Given the description of an element on the screen output the (x, y) to click on. 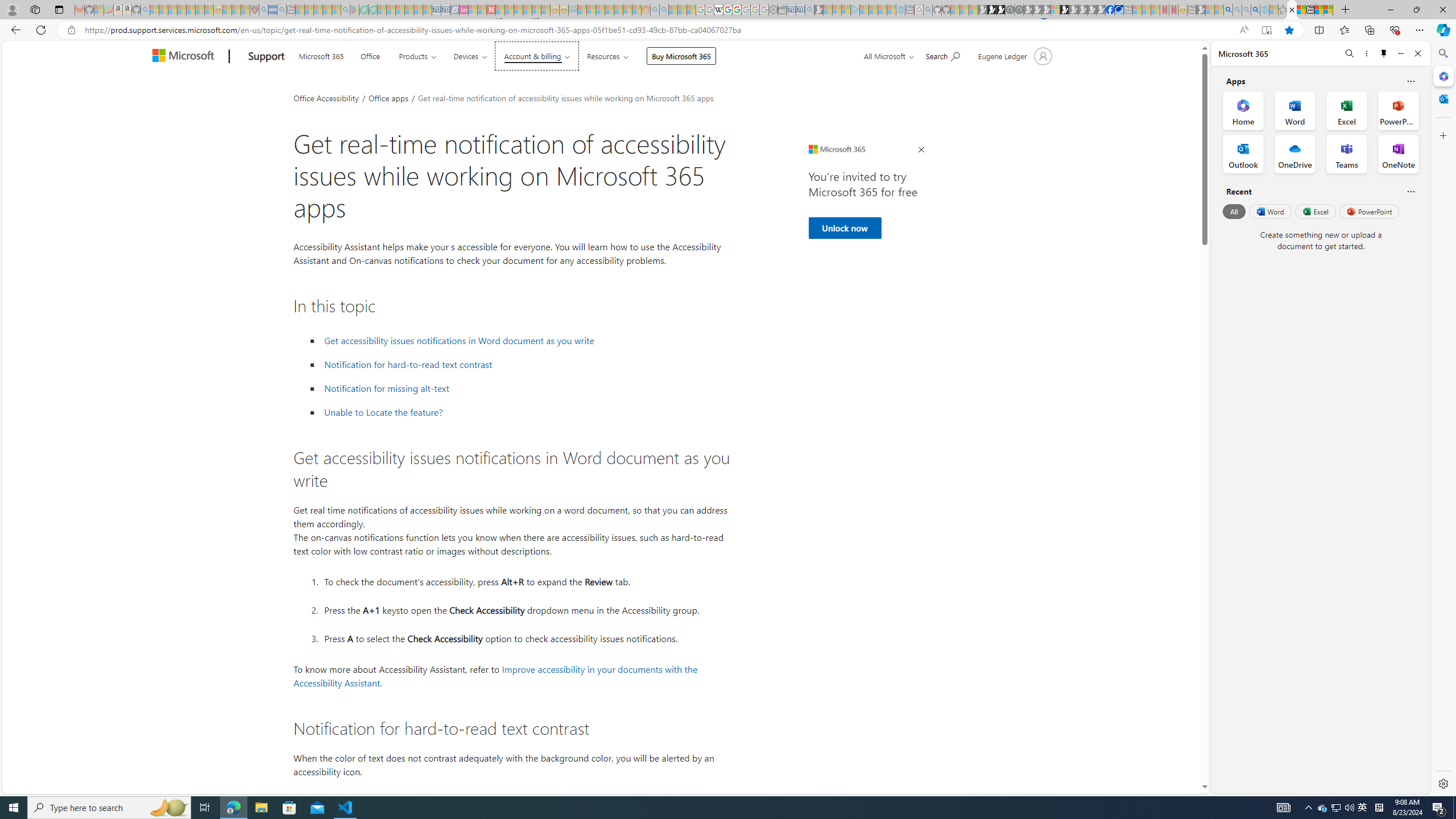
Account manager for Eugene Ledger (1014, 55)
Future Focus Report 2024 - Sleeping (1018, 9)
Close Ad (920, 149)
